Given the description of an element on the screen output the (x, y) to click on. 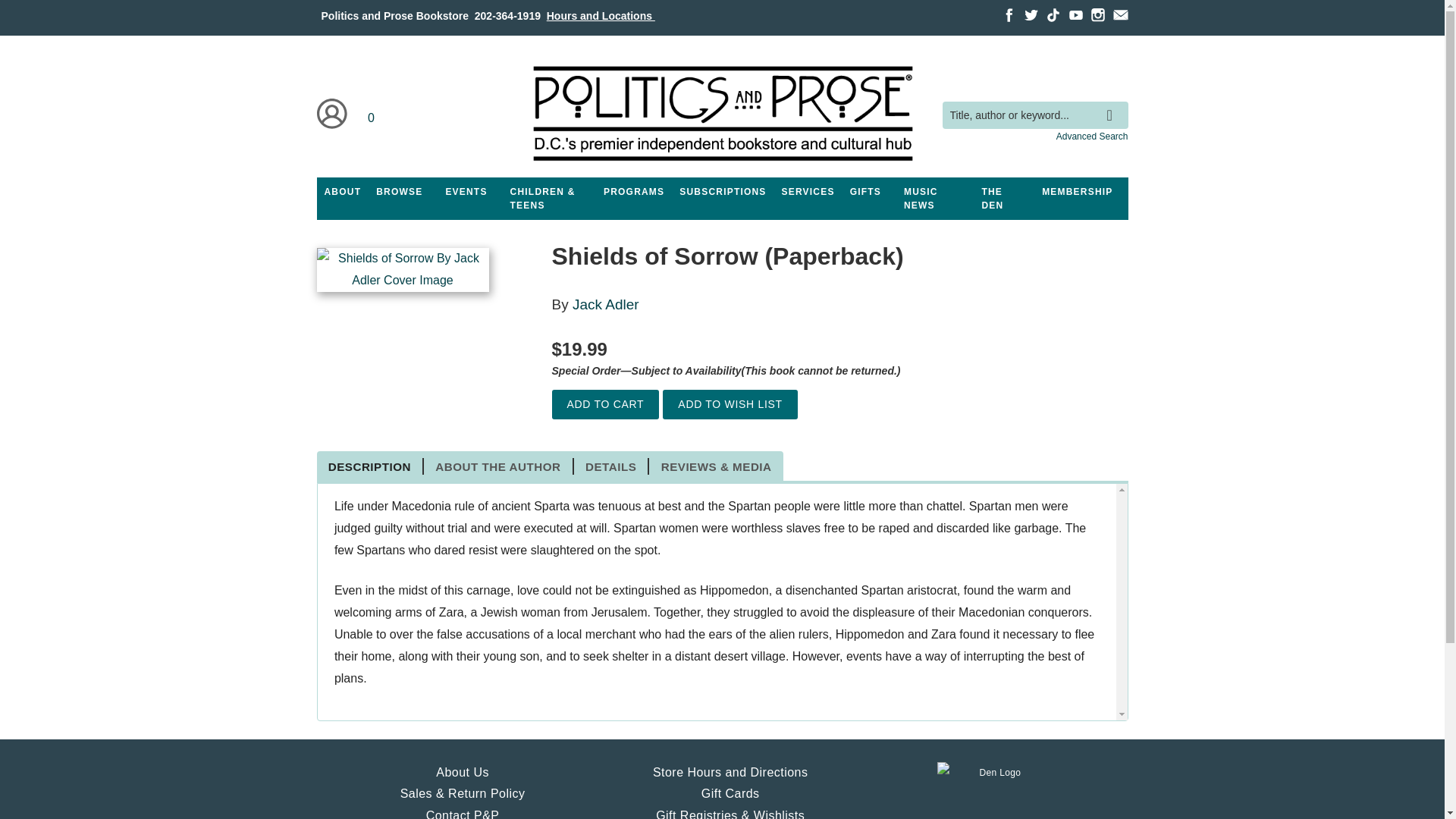
Add to Wish List (729, 404)
ABOUT (343, 191)
SERVICES (808, 191)
SUBSCRIPTIONS (722, 191)
Home (721, 114)
Add to Cart (605, 404)
BROWSE (398, 191)
Advanced Search (1092, 136)
Title, author or keyword... (1034, 115)
